Given the description of an element on the screen output the (x, y) to click on. 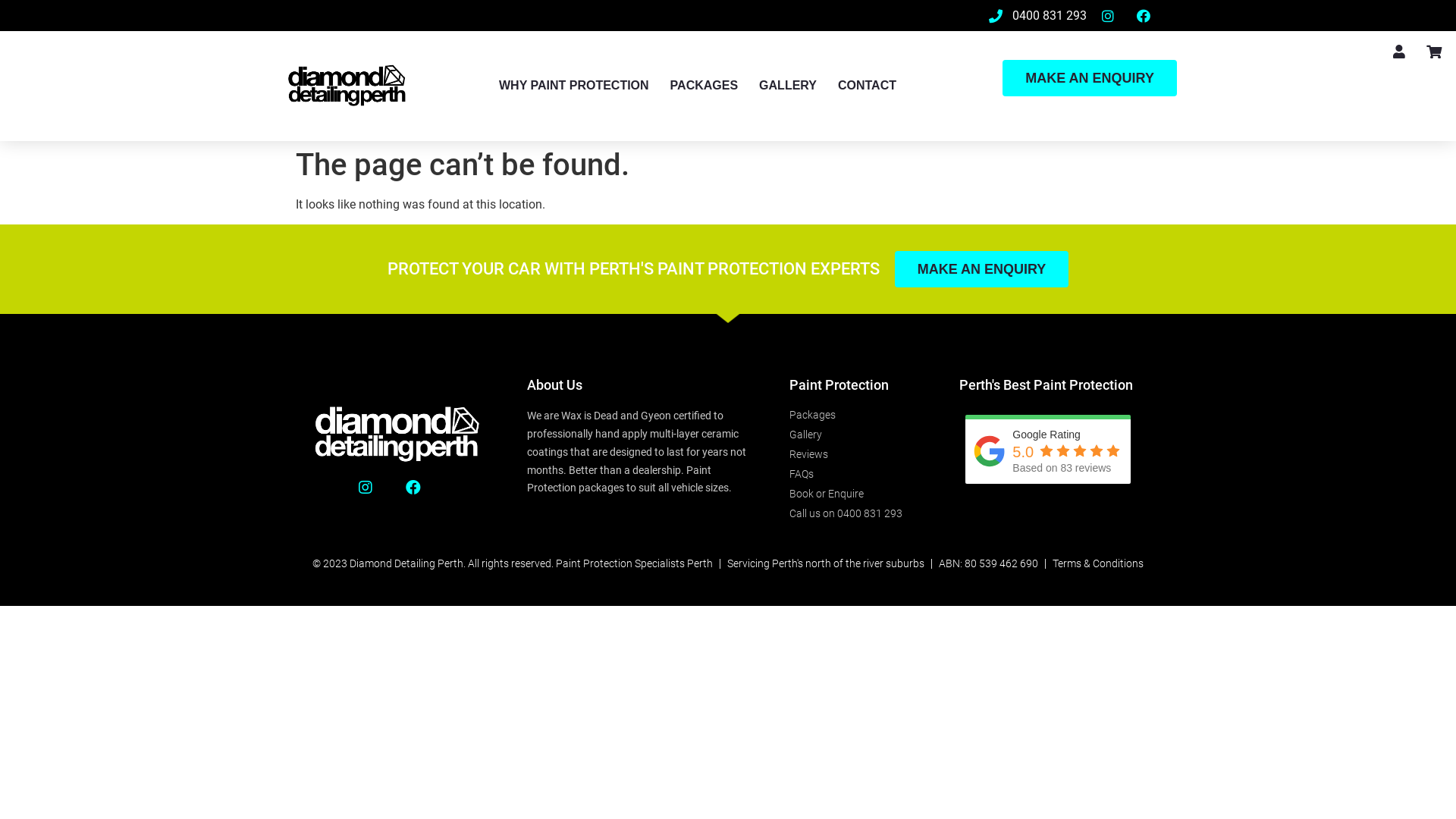
Call us on 0400 831 293 Element type: text (858, 513)
Servicing Perth's north of the river suburbs Element type: text (825, 563)
MAKE AN ENQUIRY Element type: text (981, 269)
Terms & Conditions Element type: text (1097, 563)
Reviews Element type: text (858, 454)
MAKE AN ENQUIRY Element type: text (1089, 77)
GALLERY Element type: text (787, 85)
CONTACT Element type: text (866, 85)
Gallery Element type: text (858, 434)
Packages Element type: text (858, 415)
PACKAGES Element type: text (704, 85)
WHY PAINT PROTECTION Element type: text (573, 85)
Book or Enquire Element type: text (858, 494)
0400 831 293 Element type: text (1036, 15)
